Given the description of an element on the screen output the (x, y) to click on. 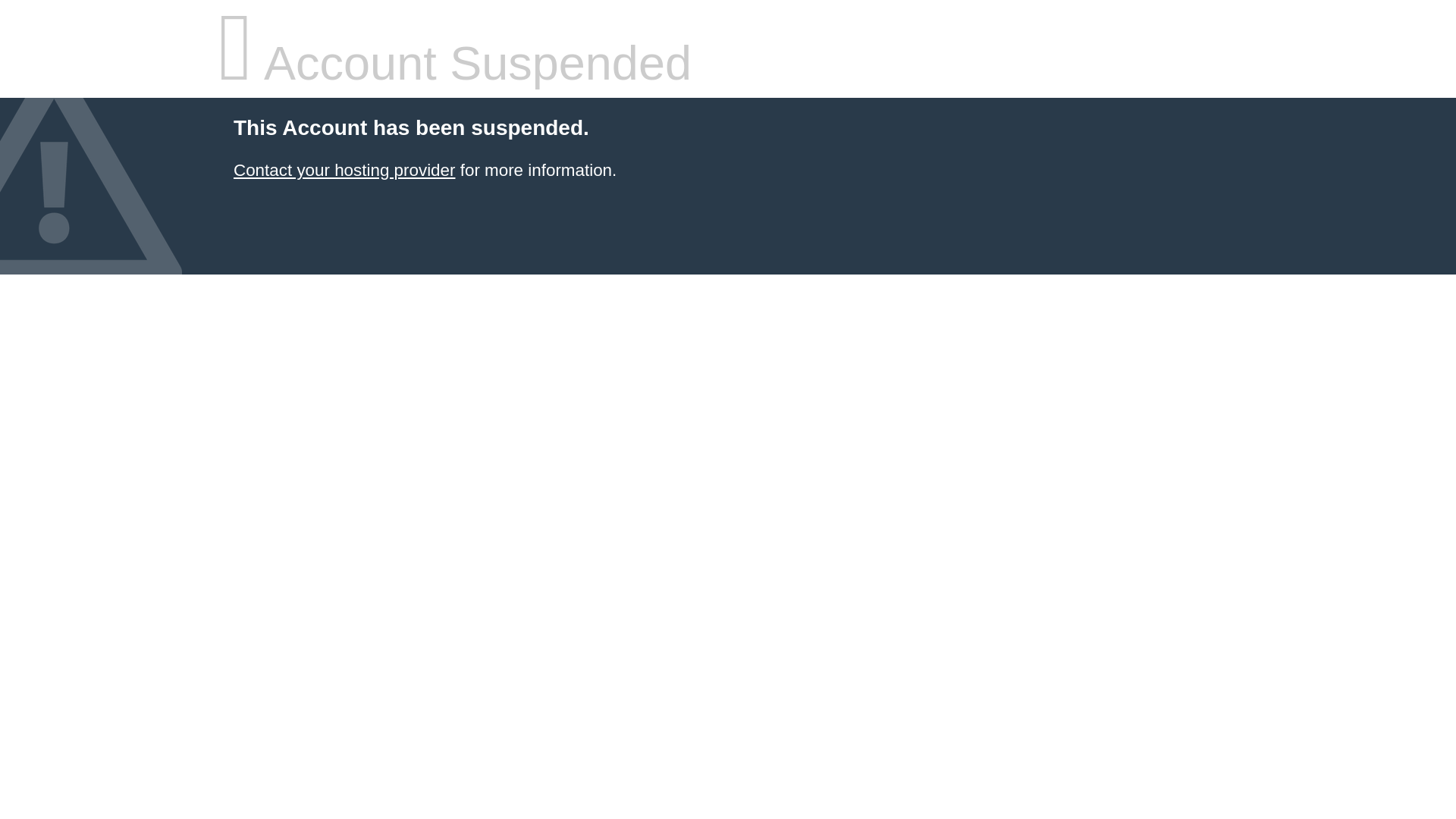
Contact your hosting provider (343, 169)
